Given the description of an element on the screen output the (x, y) to click on. 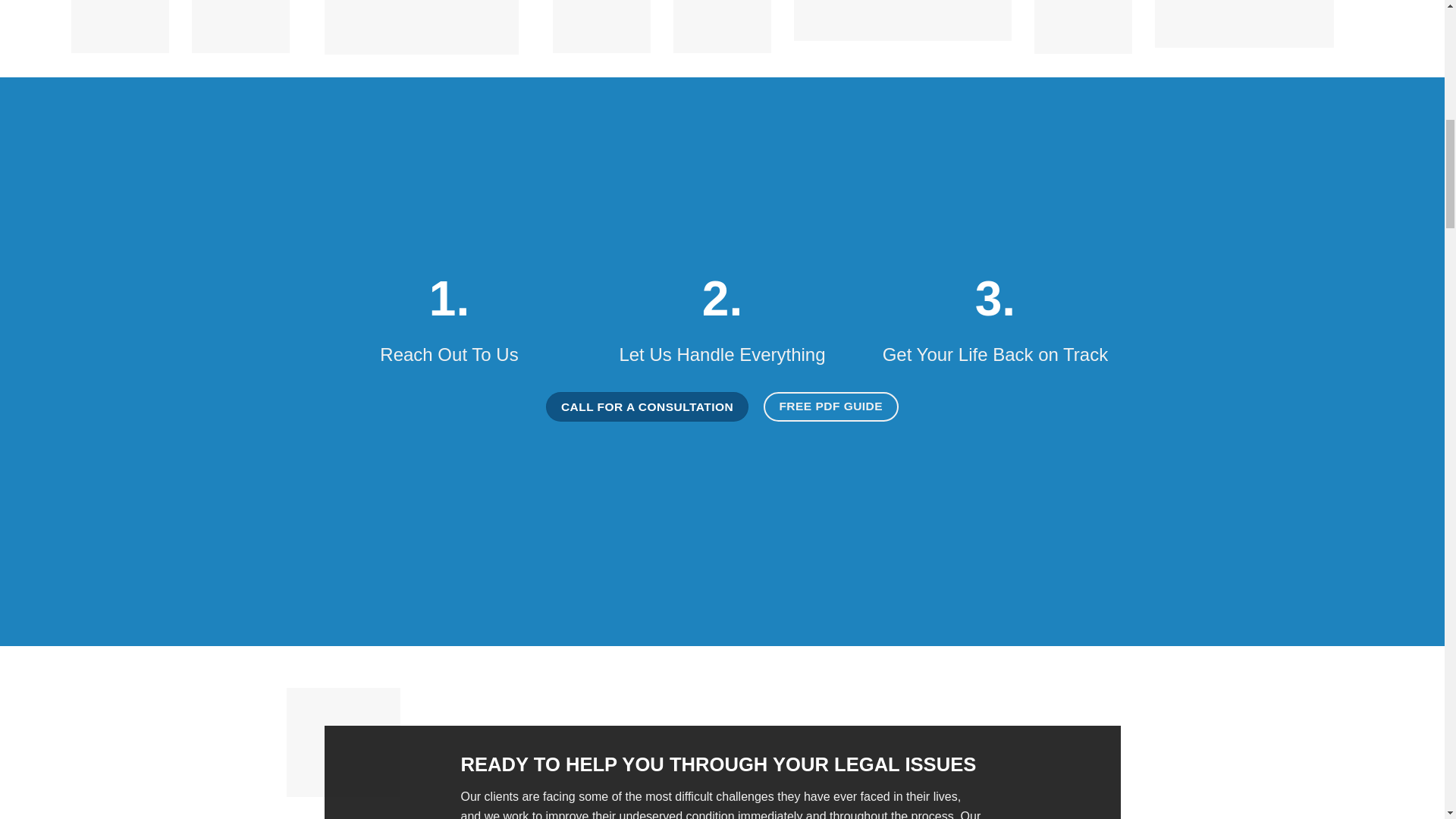
NTL 40under40 (240, 26)
chicago bar (1082, 27)
Milli Advocates (119, 26)
American Association for Justice (902, 20)
National Trial lawyers (421, 27)
colin (721, 26)
thomas (601, 26)
